Given the description of an element on the screen output the (x, y) to click on. 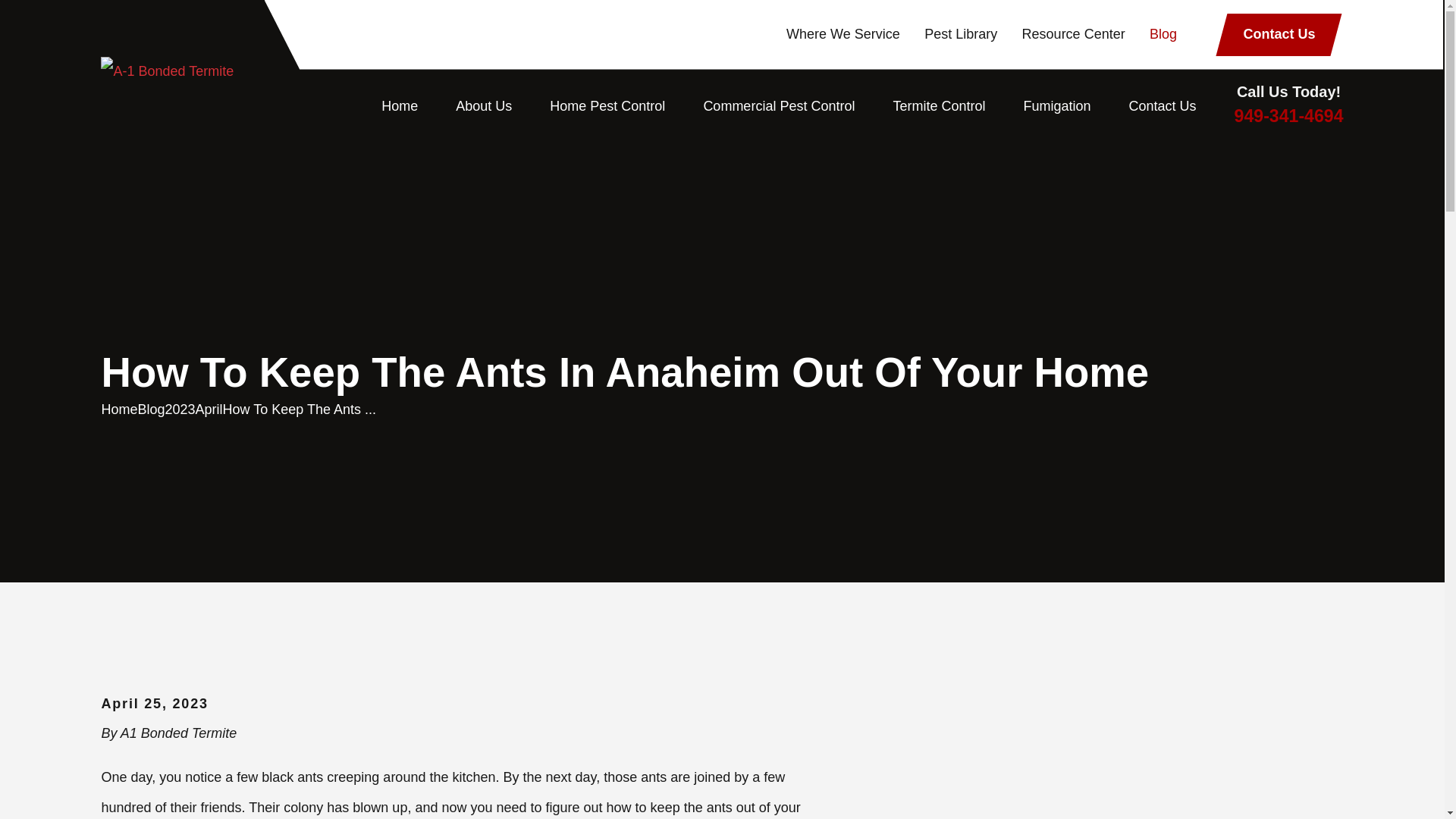
Commercial Pest Control (778, 106)
Resource Center (1073, 33)
Fumigation (1056, 106)
Pest Library (960, 33)
Contact Us (1162, 106)
Home Pest Control (607, 106)
Contact Us (1278, 34)
Termite Control (938, 106)
Where We Service (842, 33)
Home (166, 71)
